Given the description of an element on the screen output the (x, y) to click on. 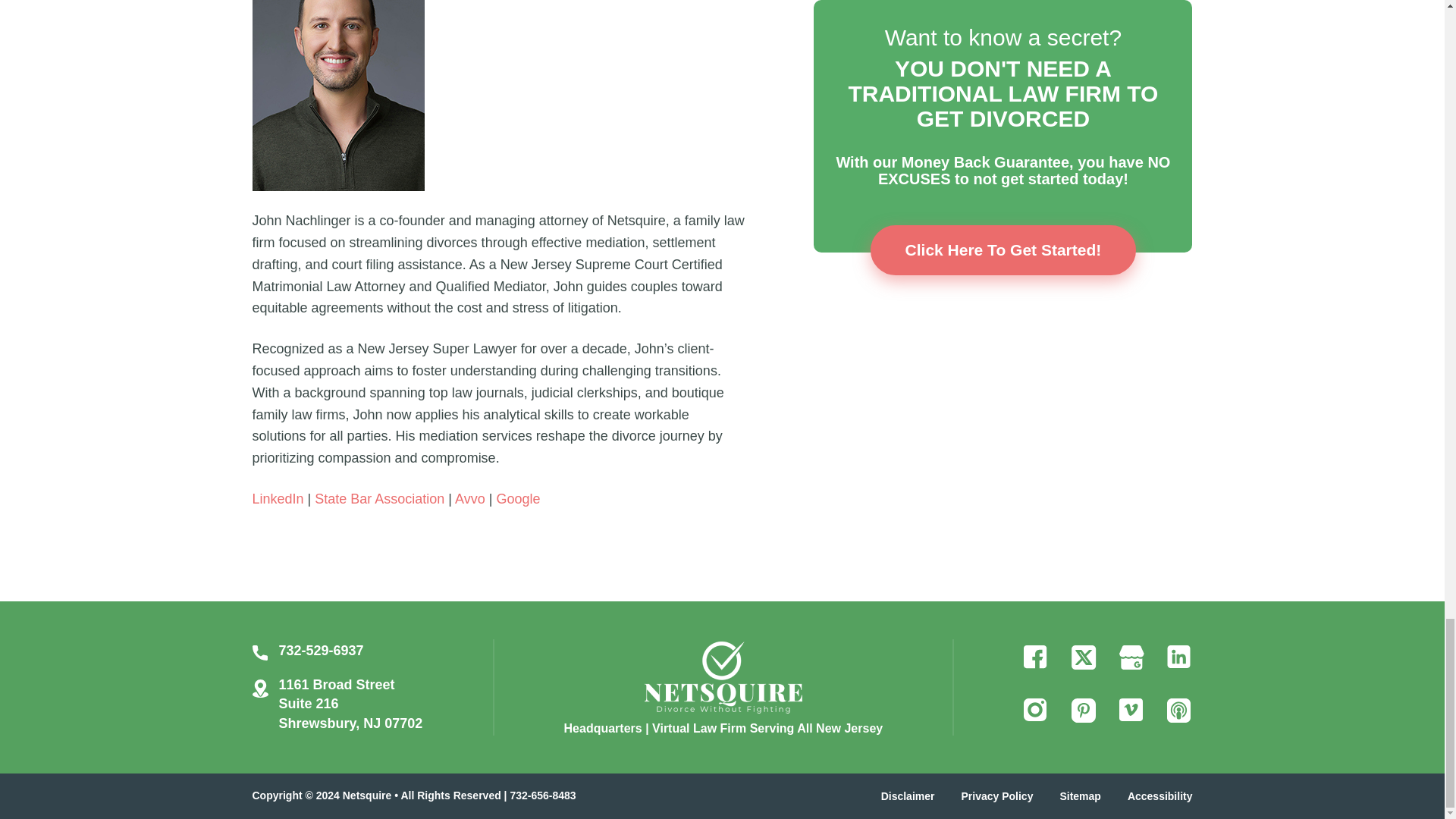
Netsquire (723, 675)
LinkedIn (276, 498)
